Given the description of an element on the screen output the (x, y) to click on. 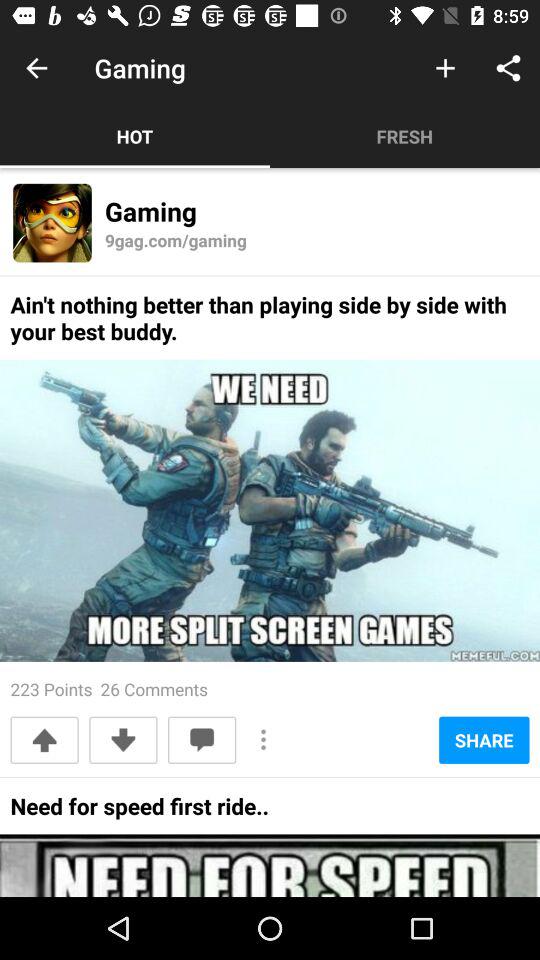
select item to the left of the gaming icon (36, 68)
